Given the description of an element on the screen output the (x, y) to click on. 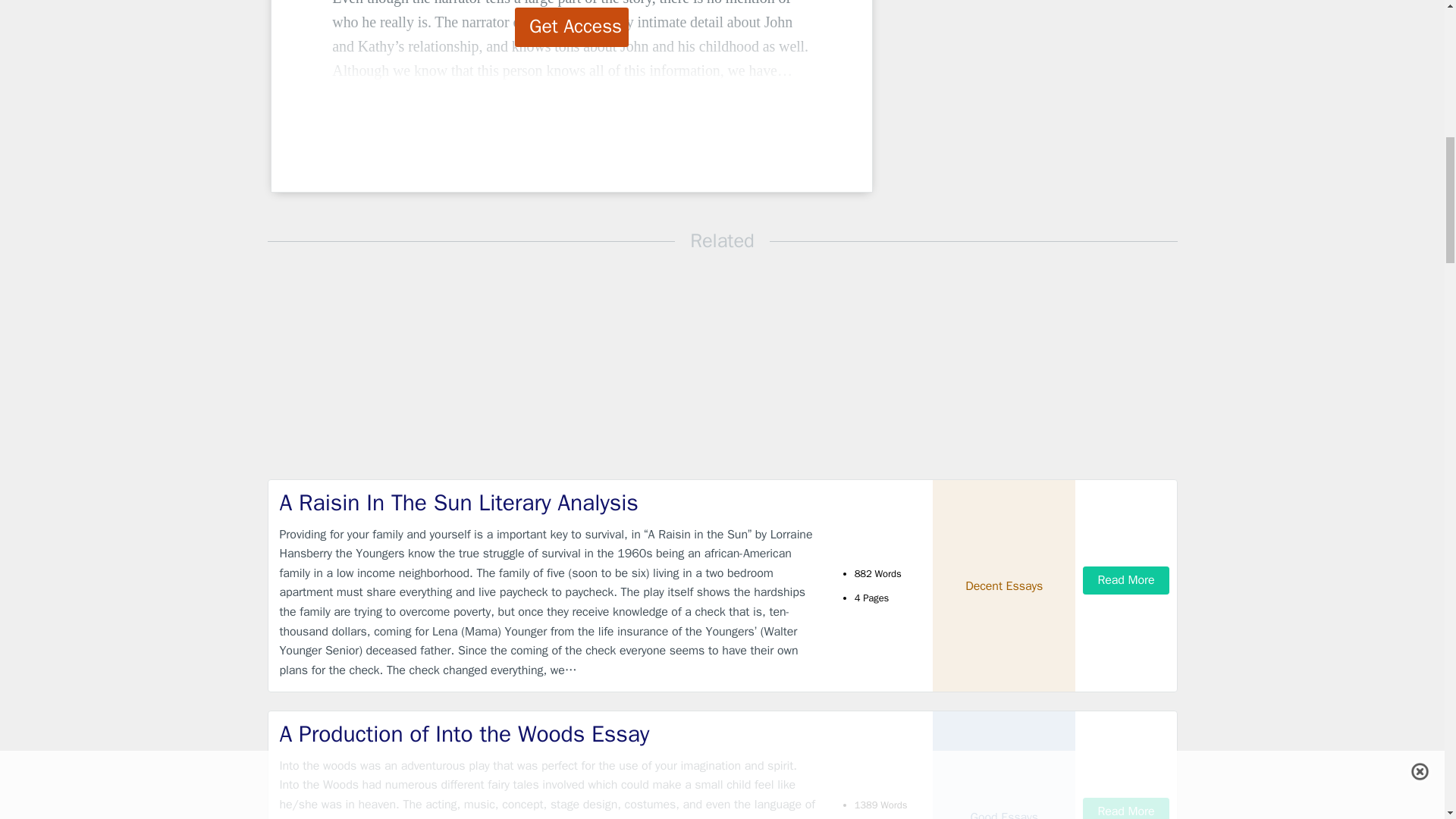
3rd party ad content (997, 90)
Read More (1126, 580)
Read More (1126, 808)
Get Access (571, 26)
A Production of Into the Woods Essay (548, 734)
A Raisin In The Sun Literary Analysis (548, 502)
